Given the description of an element on the screen output the (x, y) to click on. 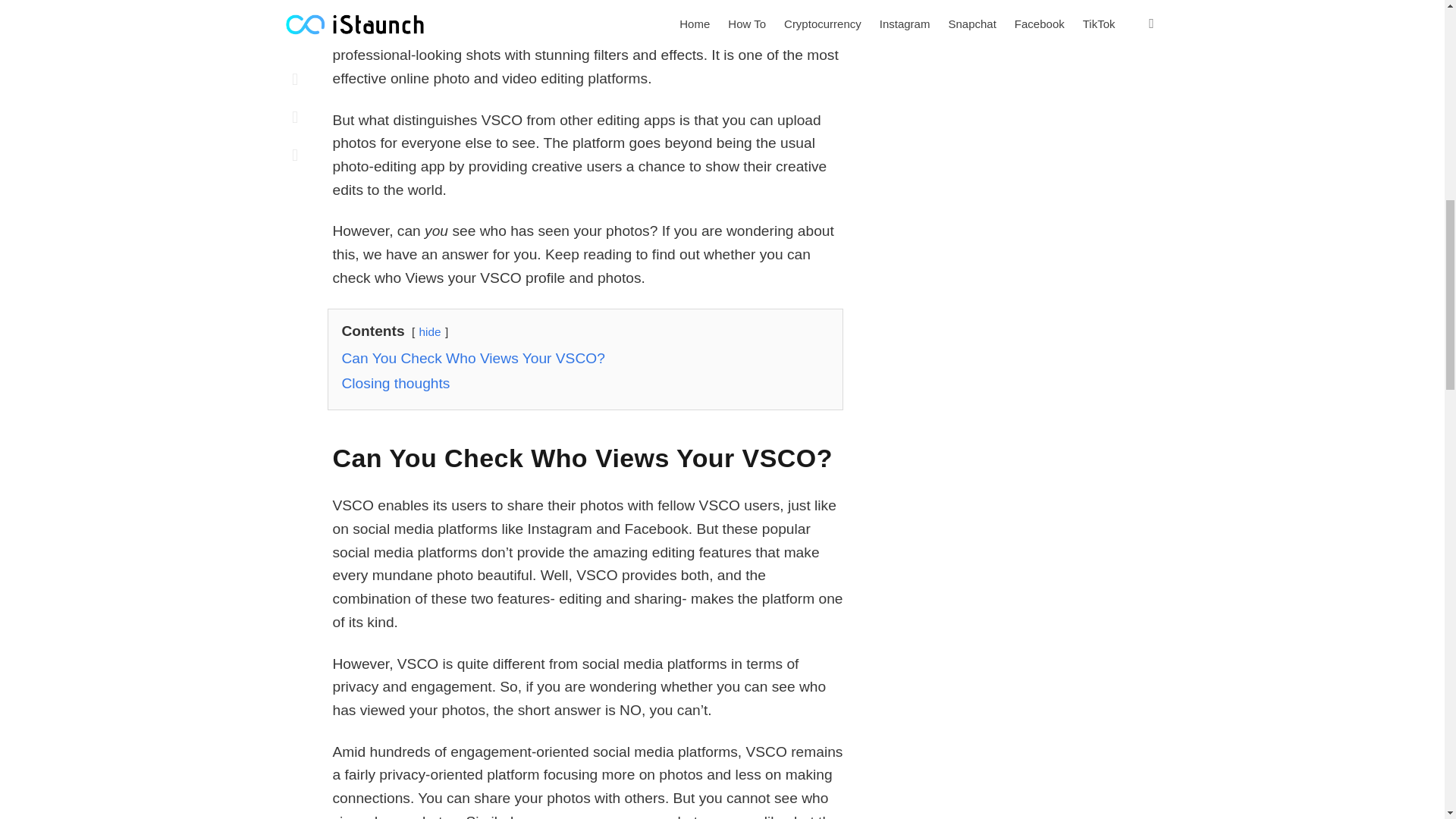
Closing thoughts (394, 383)
hide (430, 331)
Can You Check Who Views Your VSCO? (472, 358)
